Given the description of an element on the screen output the (x, y) to click on. 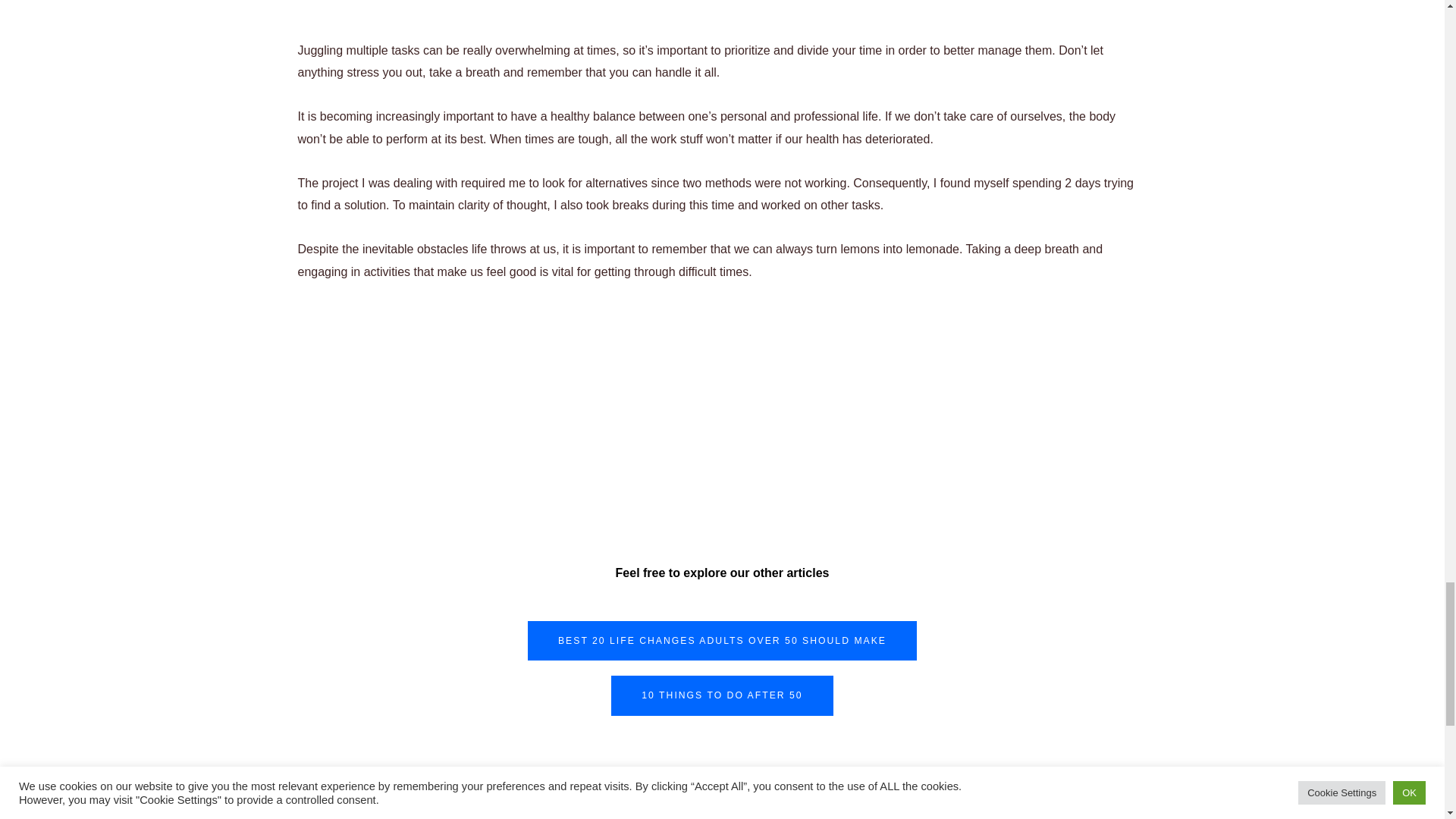
BEST 20 LIFE CHANGES ADULTS OVER 50 SHOULD MAKE (722, 640)
10 THINGS TO DO AFTER 50 (721, 694)
